Given the description of an element on the screen output the (x, y) to click on. 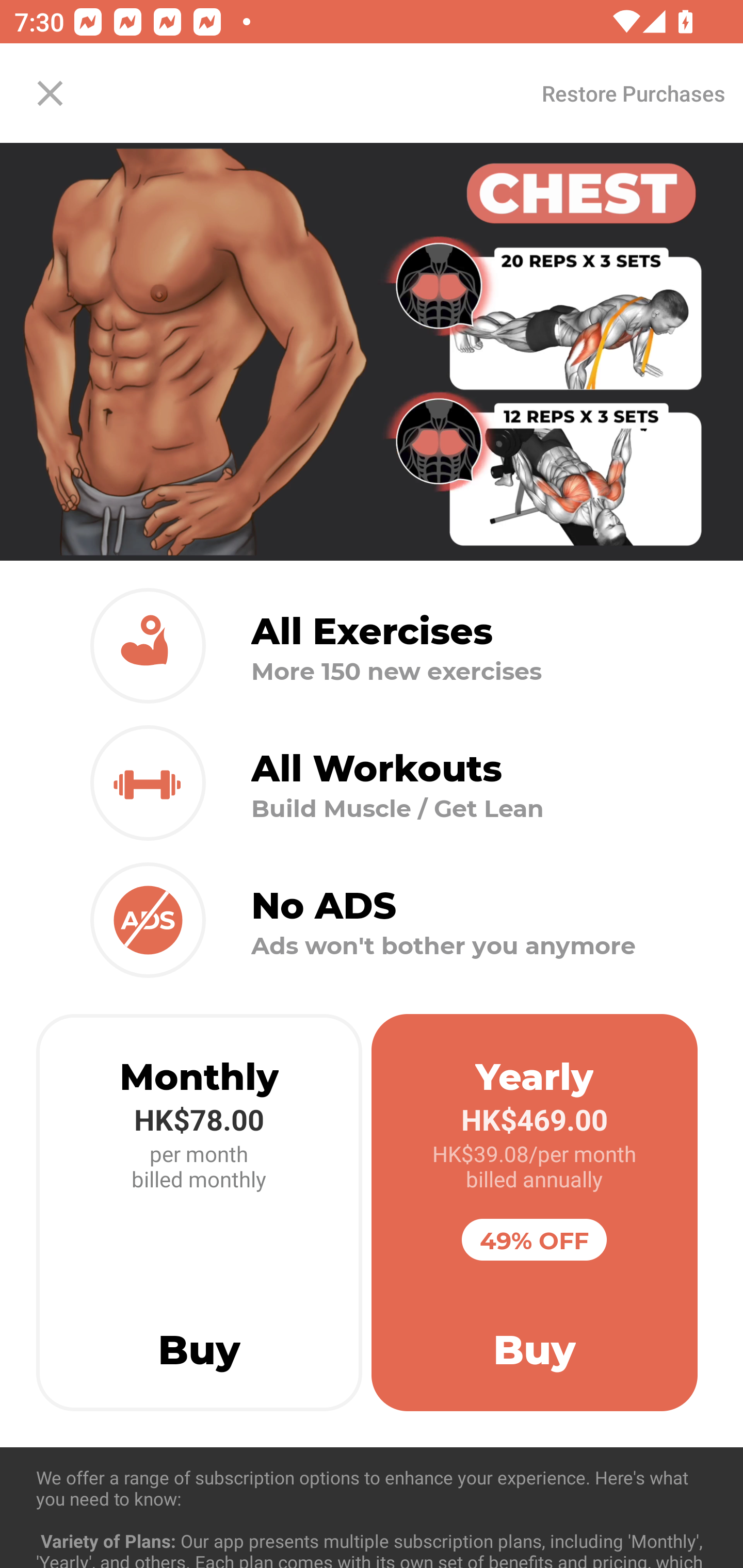
Restore Purchases (632, 92)
Monthly HK$78.00 per month
billed monthly Buy (199, 1212)
